Given the description of an element on the screen output the (x, y) to click on. 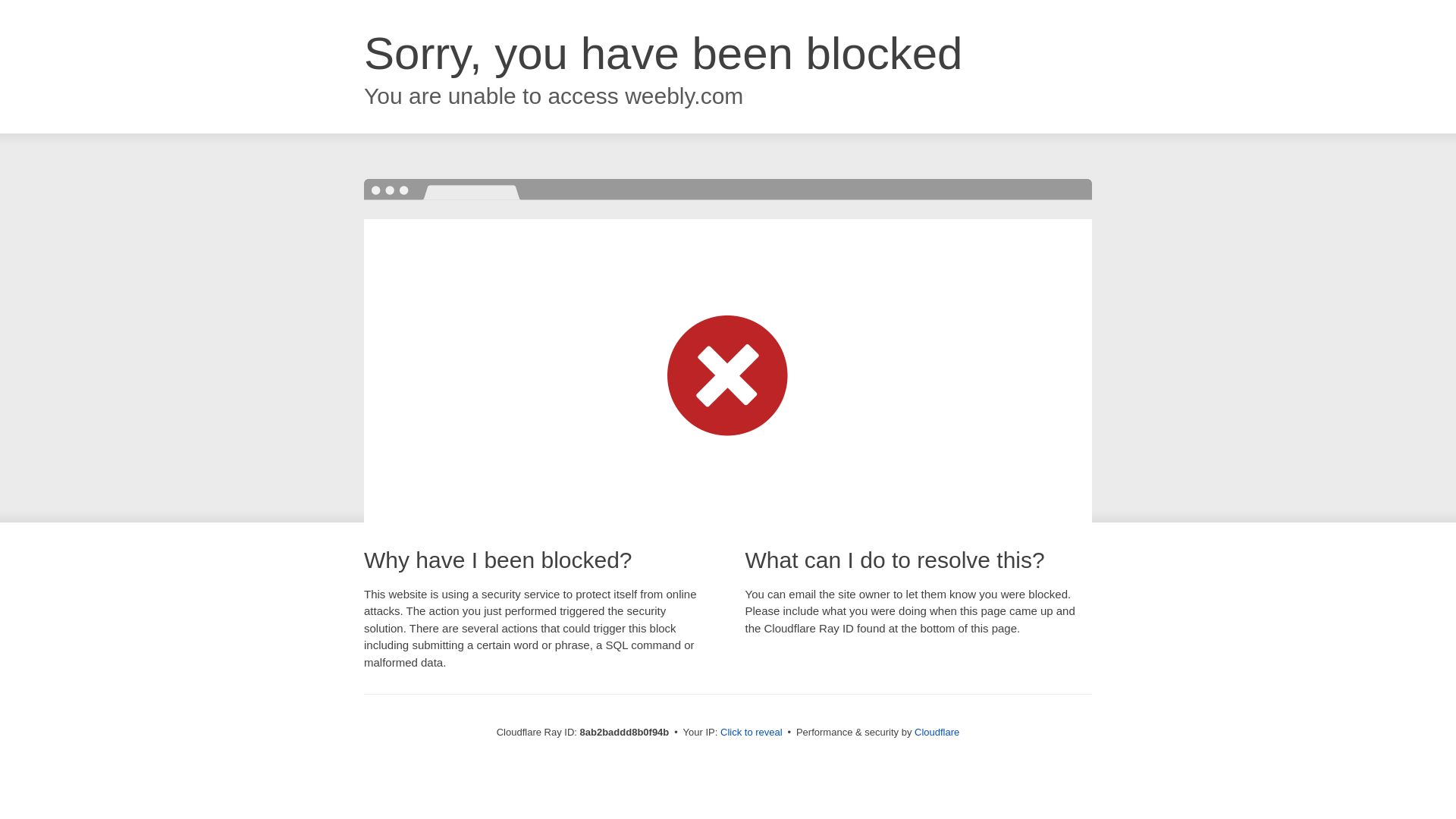
Cloudflare (936, 731)
Click to reveal (751, 732)
